Given the description of an element on the screen output the (x, y) to click on. 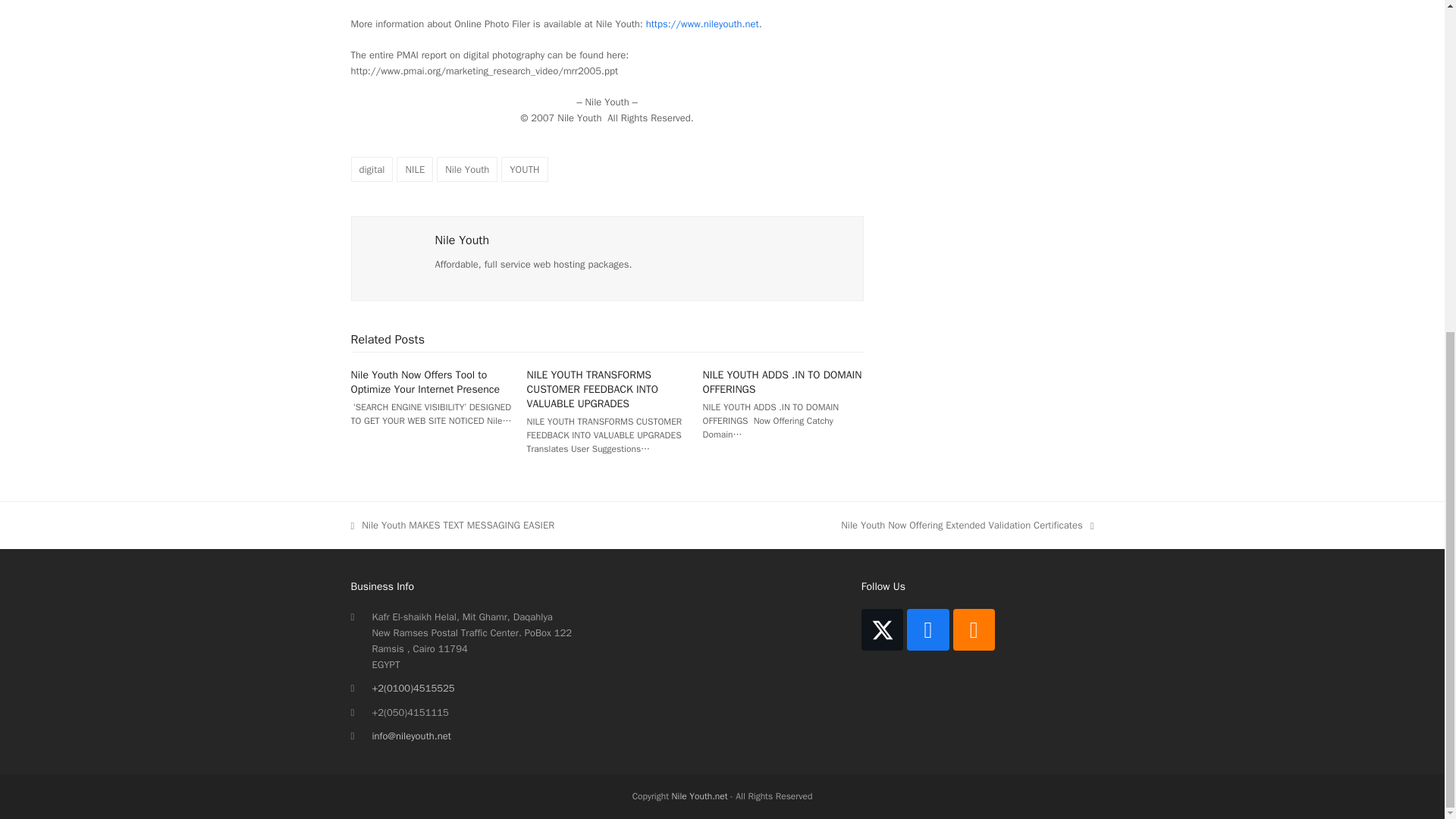
Facebook (928, 629)
RSS (973, 629)
NILE (414, 169)
Nile Youth (466, 169)
digital (371, 169)
